Given the description of an element on the screen output the (x, y) to click on. 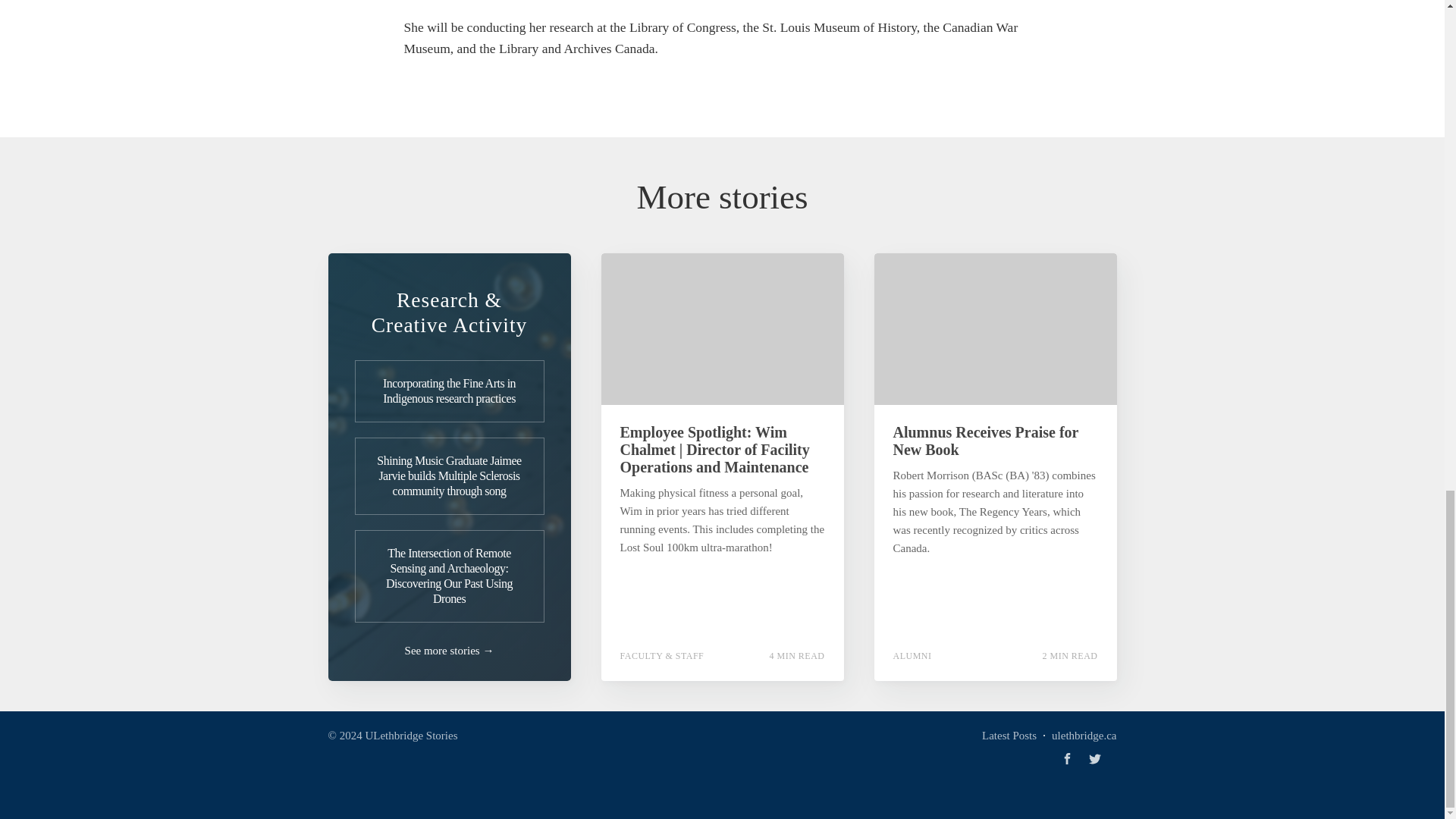
Latest Posts (1008, 735)
ulethbridge.ca (1083, 735)
Incorporating the Fine Arts in Indigenous research practices (449, 391)
ULethbridge Stories (411, 735)
